Given the description of an element on the screen output the (x, y) to click on. 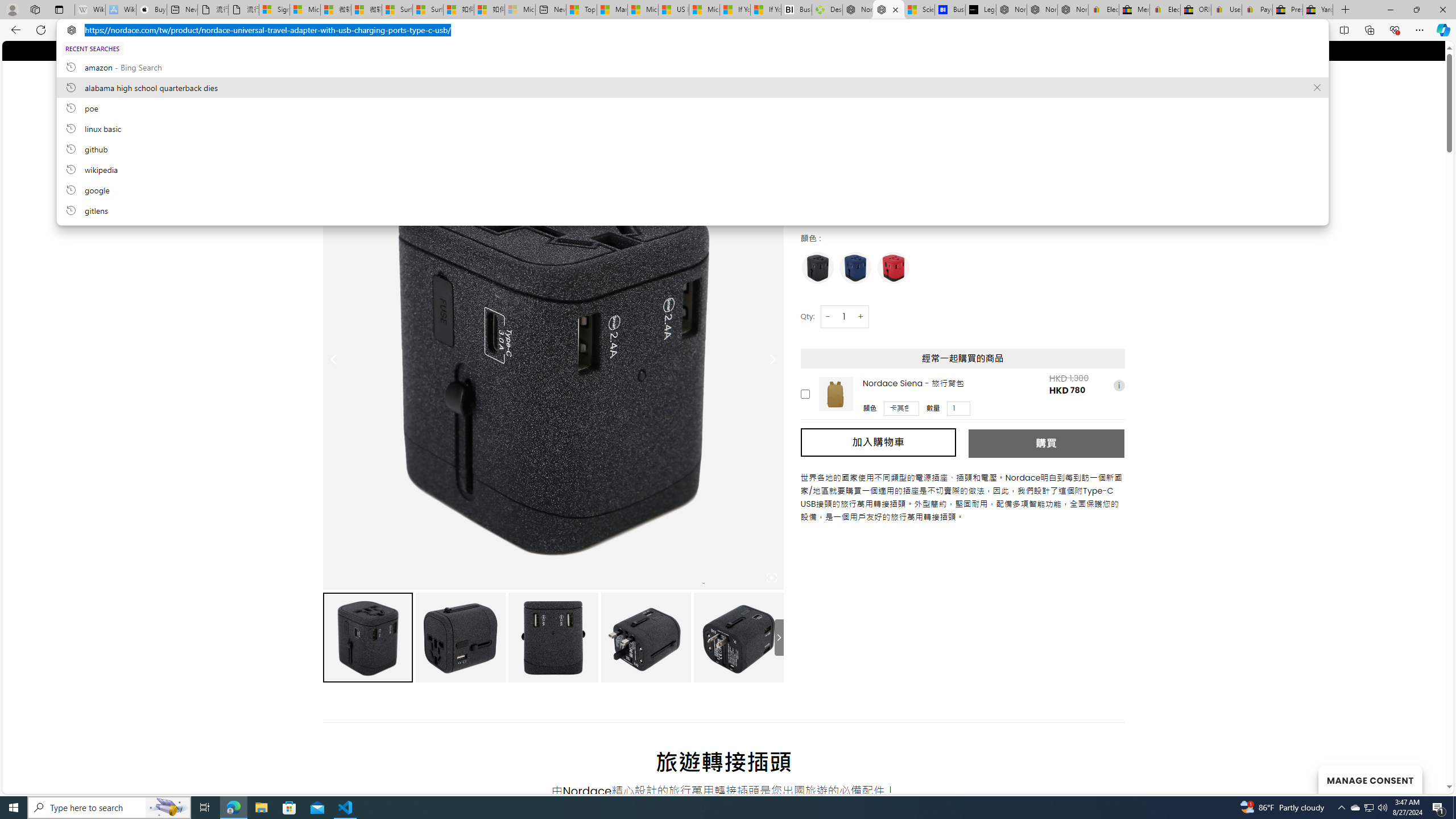
MANAGE CONSENT (1369, 779)
US Heat Deaths Soared To Record High Last Year (673, 9)
